Given the description of an element on the screen output the (x, y) to click on. 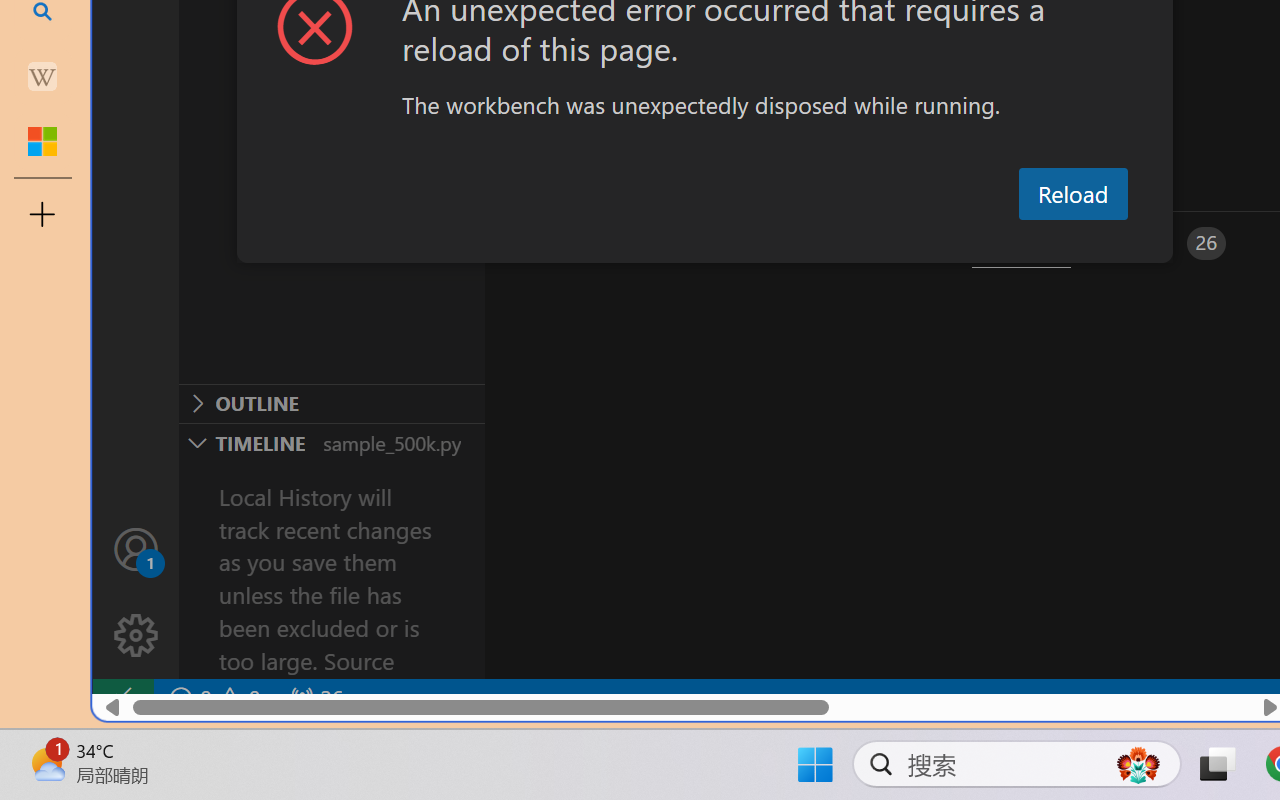
Problems (Ctrl+Shift+M) (567, 243)
Accounts - Sign in requested (135, 548)
Outline Section (331, 403)
Debug Console (Ctrl+Shift+Y) (854, 243)
